Given the description of an element on the screen output the (x, y) to click on. 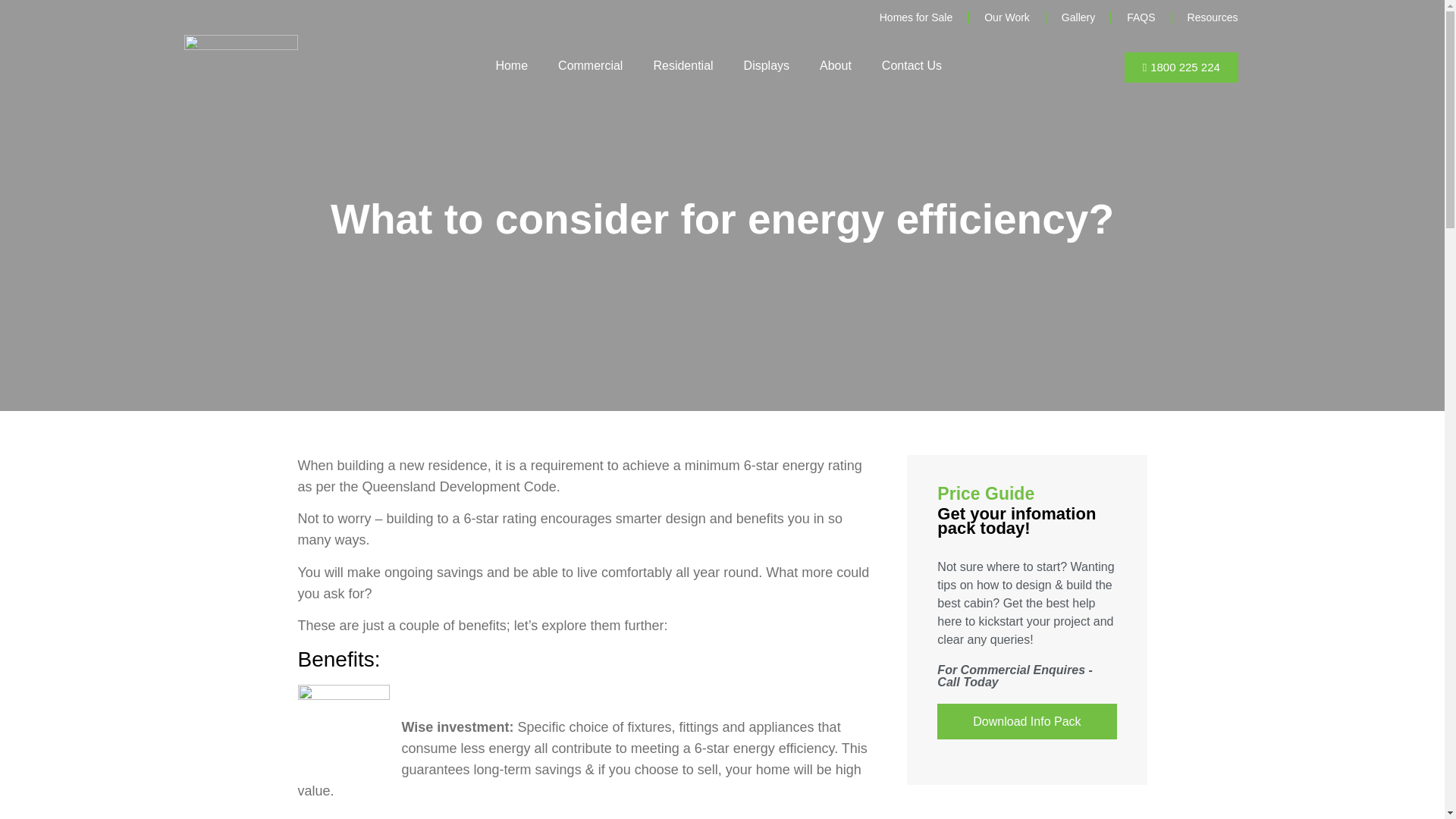
Our Work (1007, 17)
Homes for Sale (916, 17)
Contact Us (911, 65)
Gallery (1077, 17)
FAQS (1141, 17)
About (835, 65)
Home (511, 65)
Residential (682, 65)
Resources (1212, 17)
Commercial (590, 65)
